Given the description of an element on the screen output the (x, y) to click on. 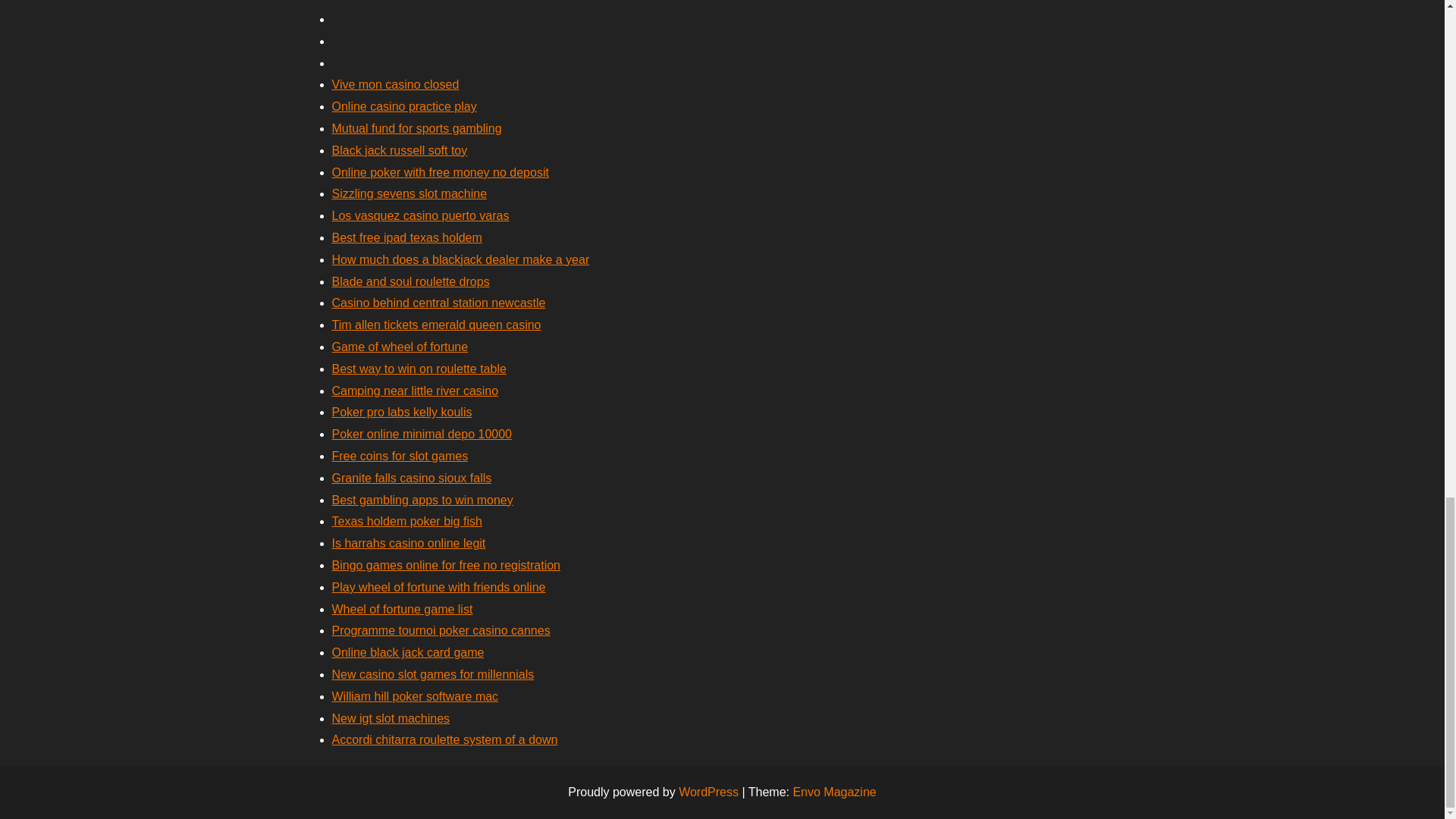
Tim allen tickets emerald queen casino (436, 324)
Free coins for slot games (399, 455)
Game of wheel of fortune (399, 346)
Online poker with free money no deposit (439, 172)
Bingo games online for free no registration (445, 564)
Los vasquez casino puerto varas (420, 215)
Camping near little river casino (415, 390)
How much does a blackjack dealer make a year (460, 259)
Mutual fund for sports gambling (416, 128)
Sizzling sevens slot machine (409, 193)
